Given the description of an element on the screen output the (x, y) to click on. 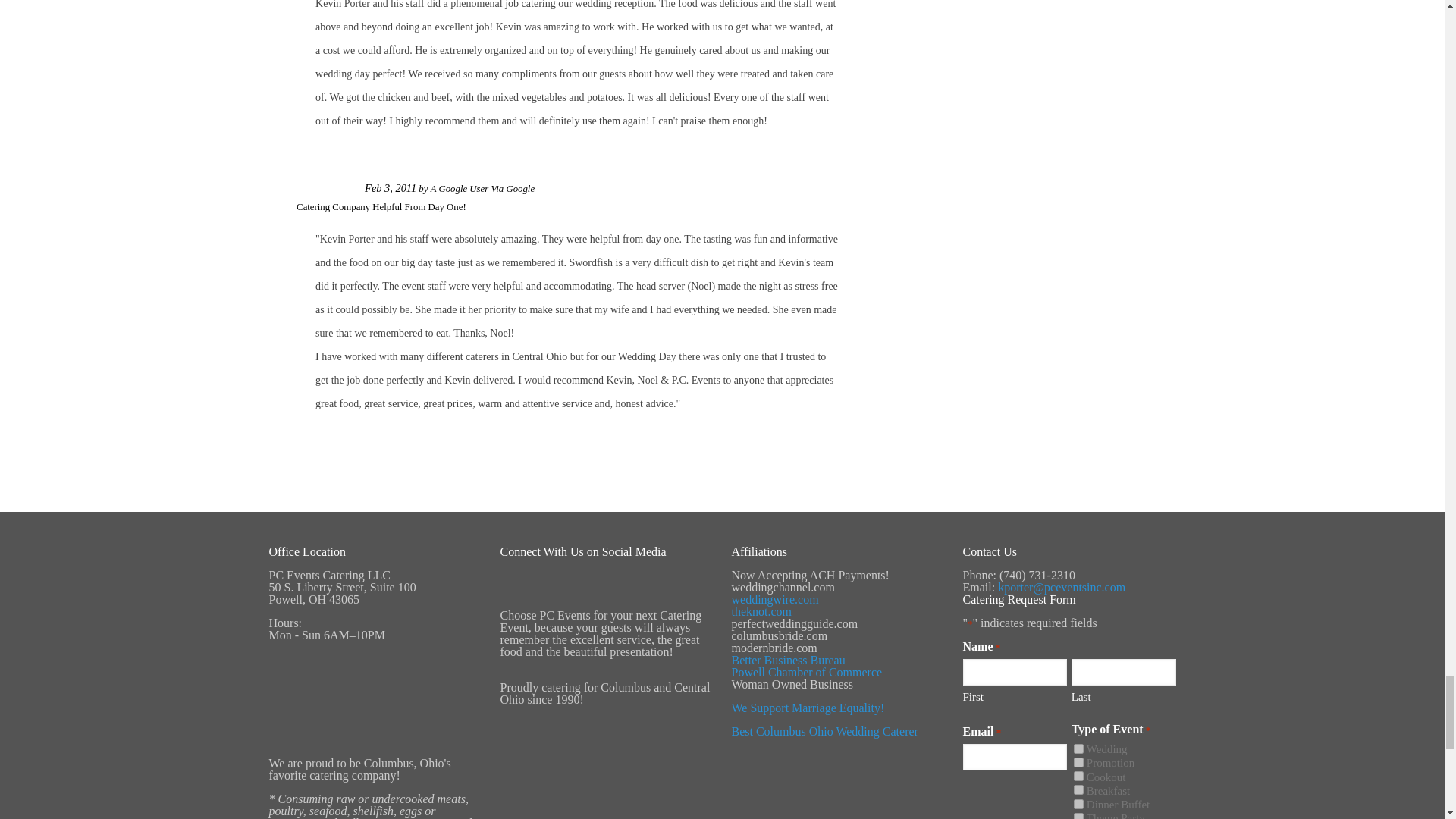
Breakfast (1078, 789)
Cookout (1078, 776)
Theme Party (1078, 816)
Promotion (1078, 762)
PC Events Inc. Catering Google Plus (583, 603)
PC Events Catering Facebook (530, 603)
PC Events Catering Twitter (665, 603)
Dinner Buffet (1078, 804)
PC Events Catering Pinterest (624, 603)
Wedding (1078, 748)
